Given the description of an element on the screen output the (x, y) to click on. 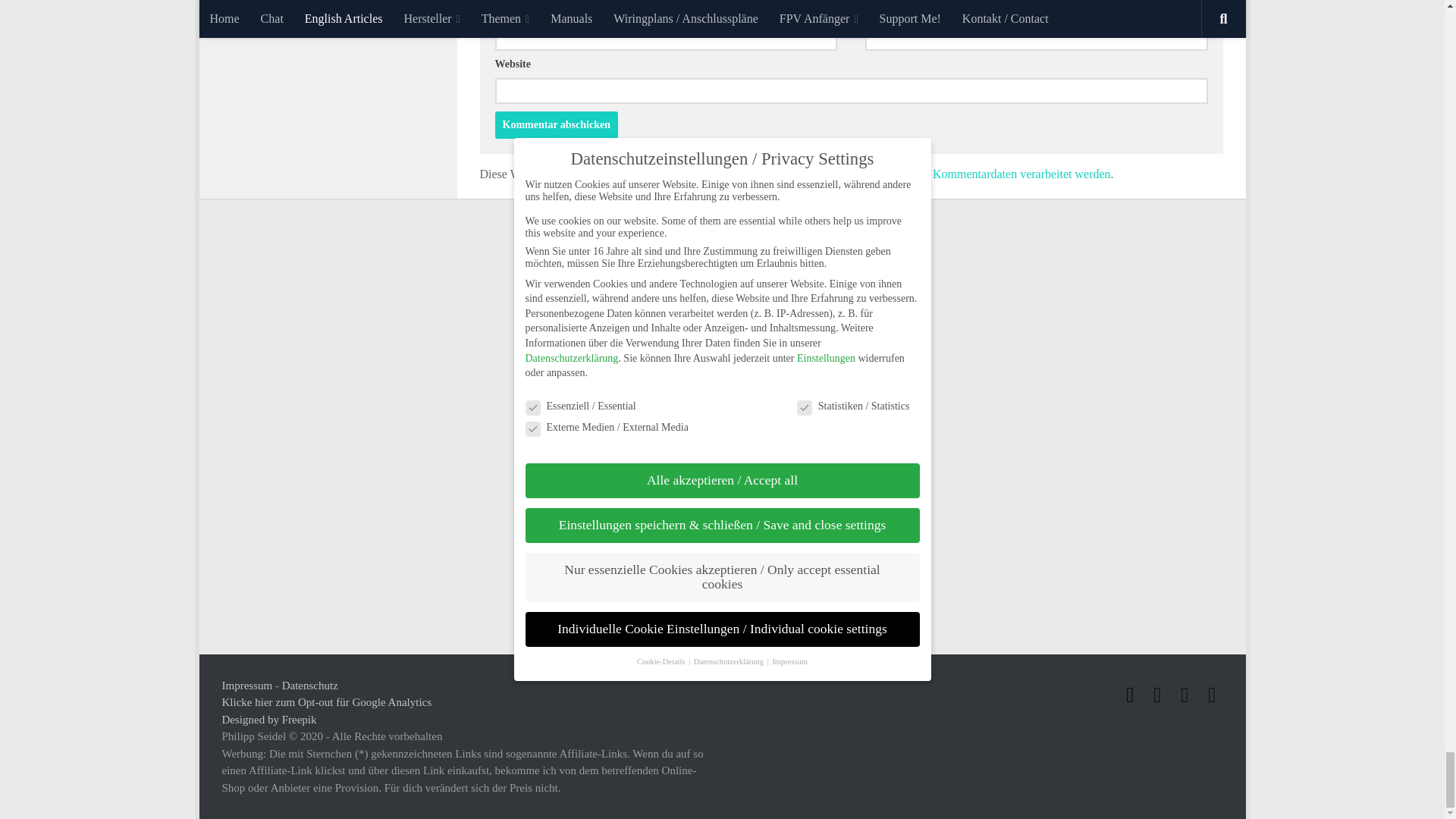
Folge uns auf Youtube (1184, 694)
Follow me on Instagram (1157, 694)
Folge mir auf Feedburner (1212, 694)
Kommentar abschicken (556, 124)
Folge mir auf Facebook (1129, 694)
